Given the description of an element on the screen output the (x, y) to click on. 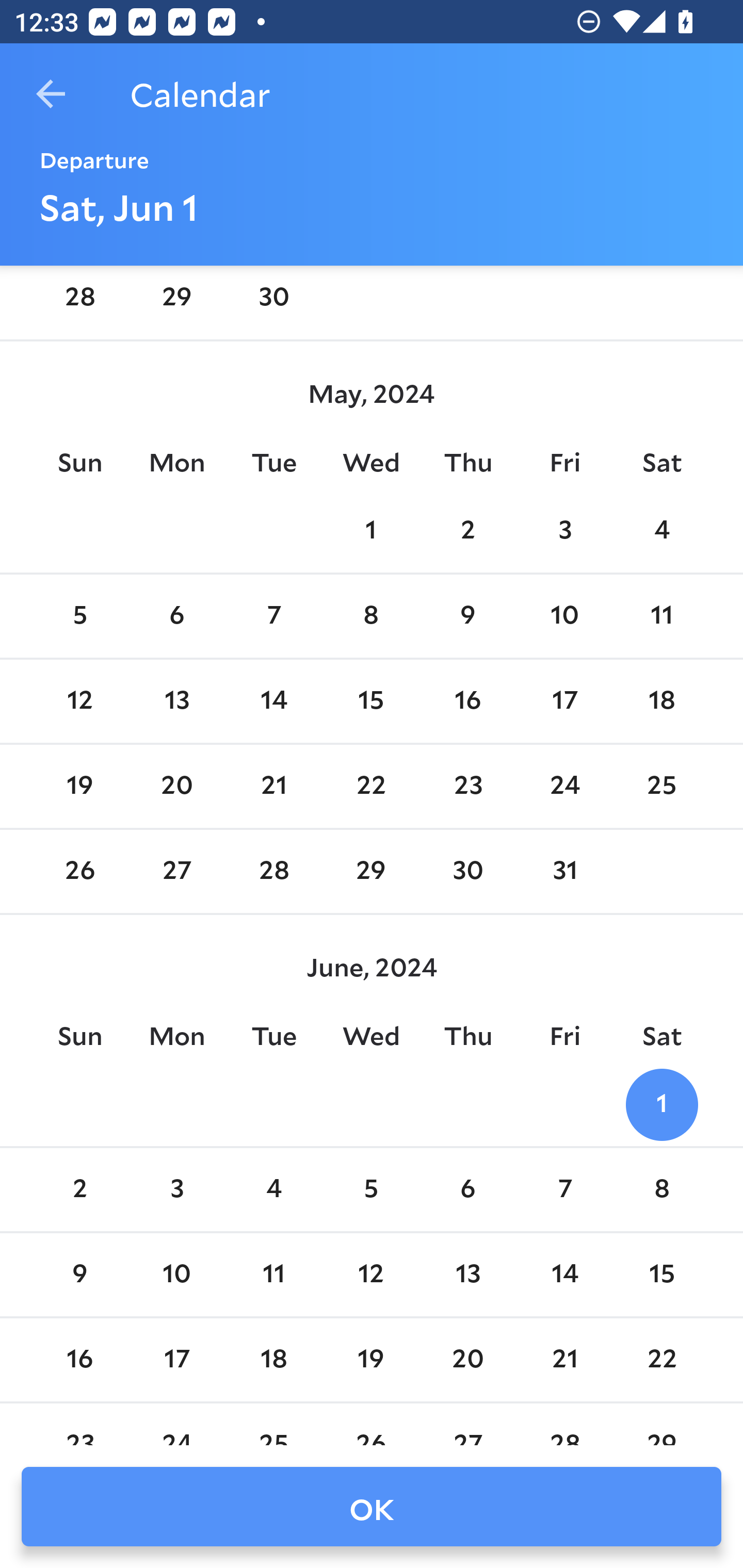
Navigate up (50, 93)
28 (79, 298)
29 (177, 298)
30 (273, 298)
1 (371, 531)
2 (467, 531)
3 (565, 531)
4 (661, 531)
5 (79, 616)
6 (177, 616)
7 (273, 616)
8 (371, 616)
9 (467, 616)
10 (565, 616)
11 (661, 616)
12 (79, 700)
13 (177, 700)
14 (273, 700)
15 (371, 700)
16 (467, 700)
17 (565, 700)
18 (661, 700)
19 (79, 787)
20 (177, 787)
21 (273, 787)
22 (371, 787)
23 (467, 787)
24 (565, 787)
25 (661, 787)
26 (79, 871)
27 (177, 871)
28 (273, 871)
29 (371, 871)
30 (467, 871)
31 (565, 871)
1 (661, 1105)
2 (79, 1190)
3 (177, 1190)
4 (273, 1190)
5 (371, 1190)
6 (467, 1190)
7 (565, 1190)
8 (661, 1190)
9 (79, 1274)
10 (177, 1274)
11 (273, 1274)
12 (371, 1274)
13 (467, 1274)
14 (565, 1274)
15 (661, 1274)
16 (79, 1359)
17 (177, 1359)
18 (273, 1359)
19 (371, 1359)
20 (467, 1359)
21 (565, 1359)
22 (661, 1359)
OK (371, 1506)
